Given the description of an element on the screen output the (x, y) to click on. 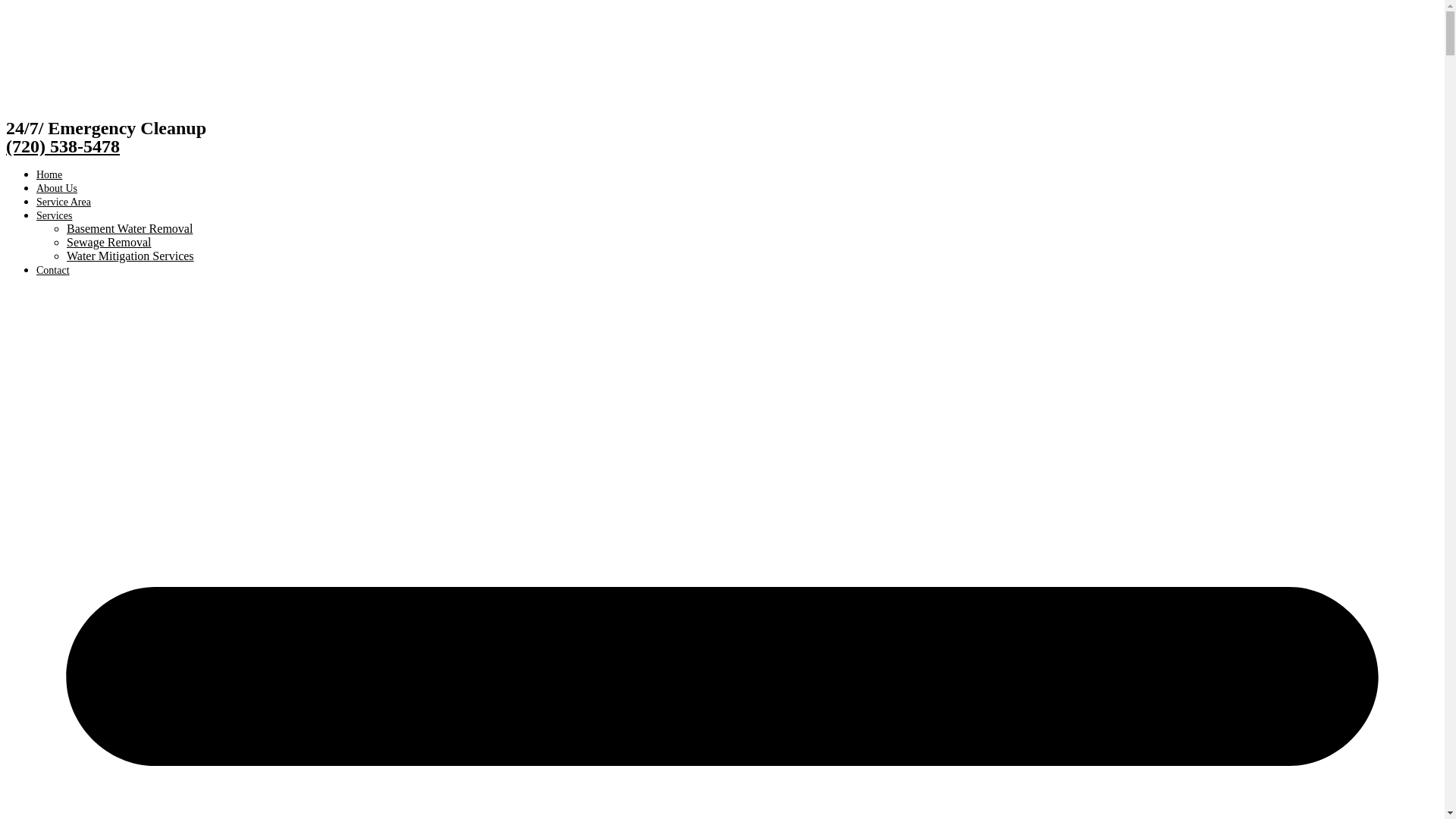
Services (53, 215)
About Us (56, 188)
Water Mitigation Services (129, 255)
Home (49, 174)
Service Area (63, 202)
Basement Water Removal (129, 228)
Sewage Removal (108, 241)
Contact (52, 270)
